Given the description of an element on the screen output the (x, y) to click on. 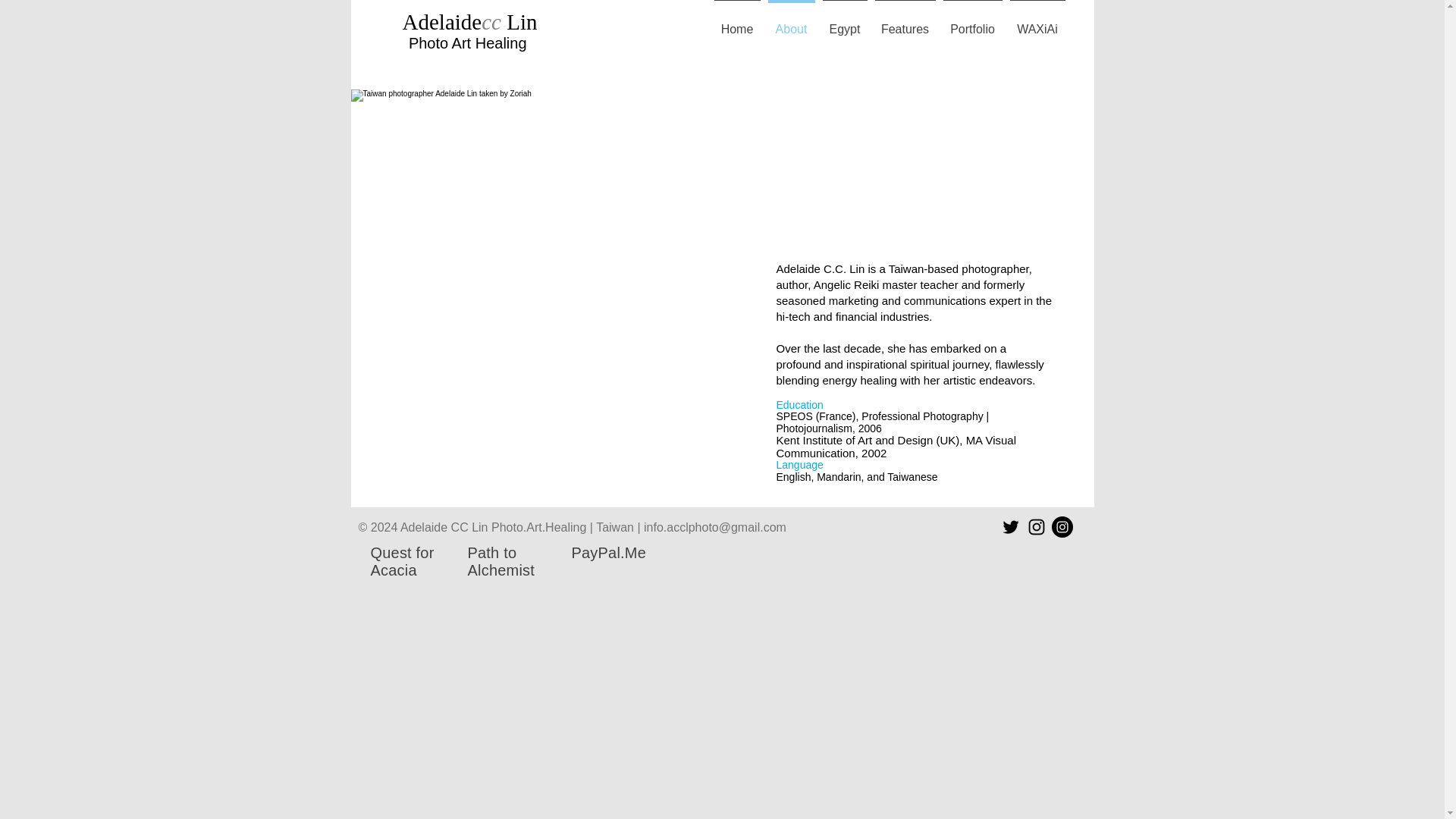
cc Lin (509, 21)
Photojo (794, 428)
urnalism (831, 428)
Egypt (844, 22)
Home (736, 22)
About (791, 22)
Art Healing  (489, 43)
Quest for Acacia (401, 561)
Adelaide (442, 21)
Path to Alchemist (500, 561)
